Given the description of an element on the screen output the (x, y) to click on. 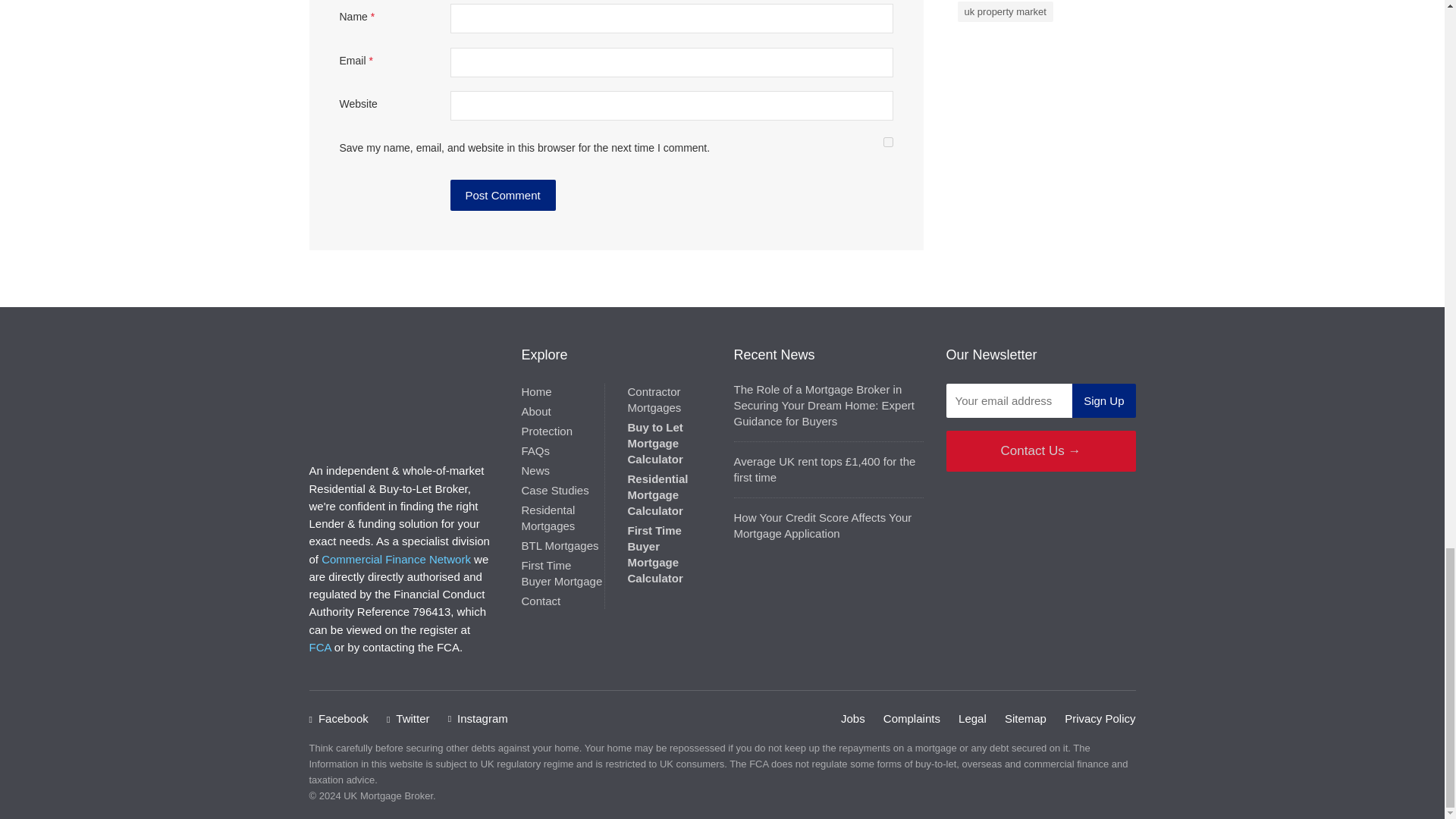
yes (887, 142)
Sign up (1103, 400)
Post Comment (502, 194)
